Given the description of an element on the screen output the (x, y) to click on. 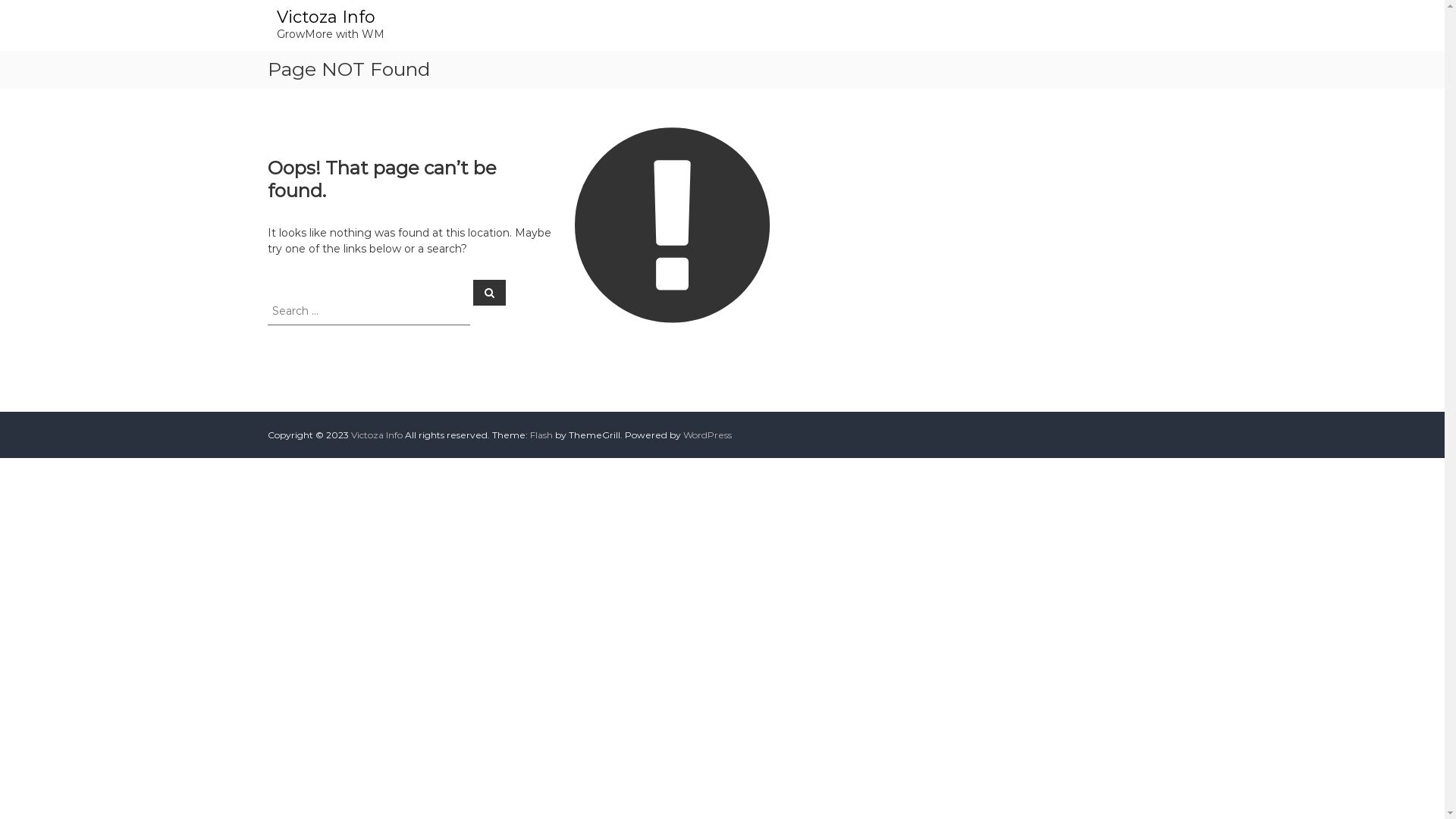
WordPress Element type: text (706, 434)
Victoza Info Element type: text (375, 434)
Victoza Info Element type: text (325, 16)
Search Element type: text (489, 291)
Flash Element type: text (540, 434)
